Given the description of an element on the screen output the (x, y) to click on. 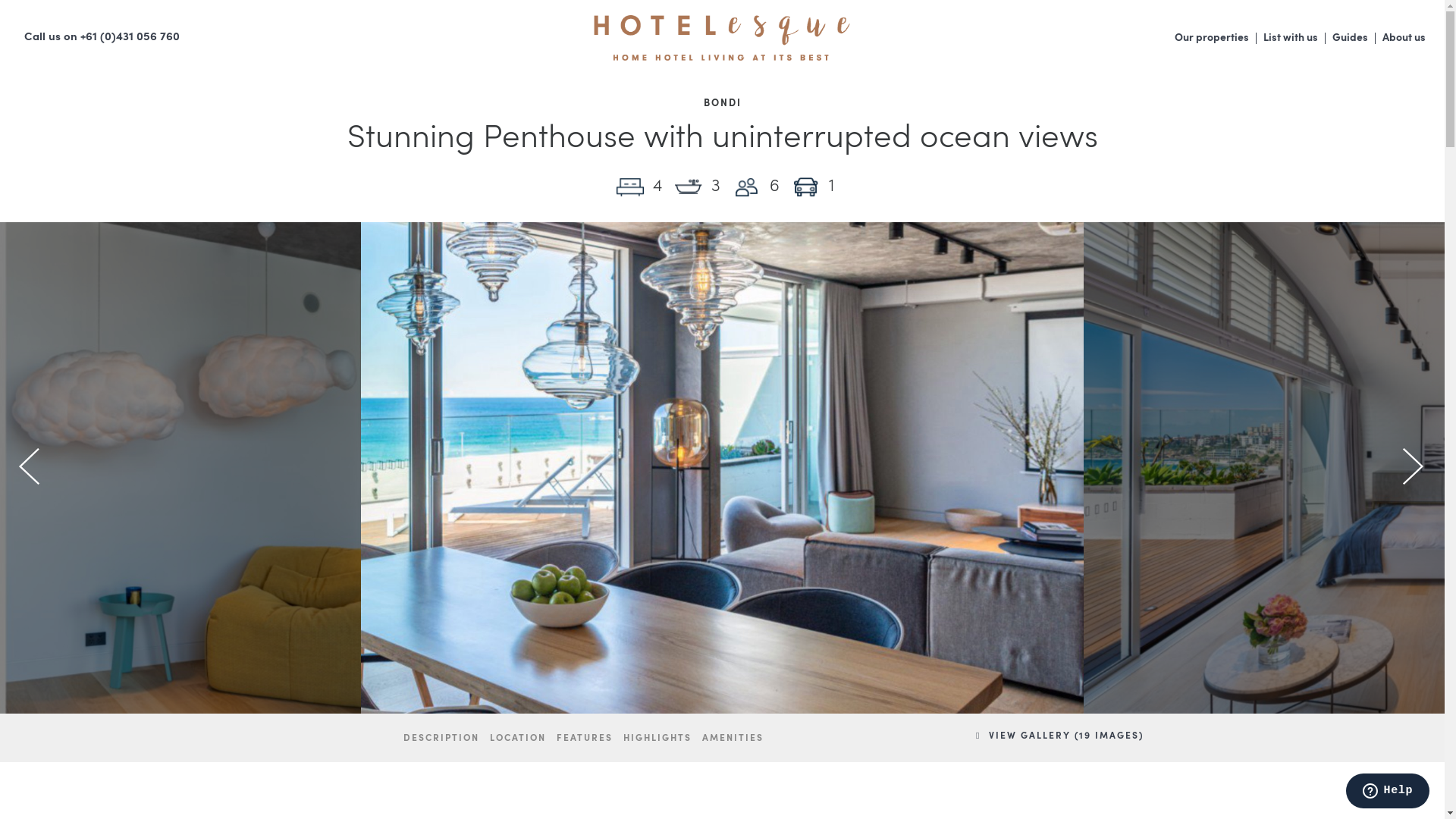
AMENITIES Element type: text (732, 738)
FEATURES Element type: text (584, 738)
HIGHLIGHTS Element type: text (657, 738)
Call us on +61 (0)431 056 760 Element type: text (97, 38)
List with us Element type: text (1290, 38)
Opens a widget where you can chat to one of our agents Element type: hover (1387, 792)
Our properties Element type: text (1211, 38)
Guides Element type: text (1350, 38)
HOTELESQUE Element type: text (722, 37)
DESCRIPTION Element type: text (441, 738)
About us Element type: text (1403, 38)
LOCATION Element type: text (517, 738)
